Given the description of an element on the screen output the (x, y) to click on. 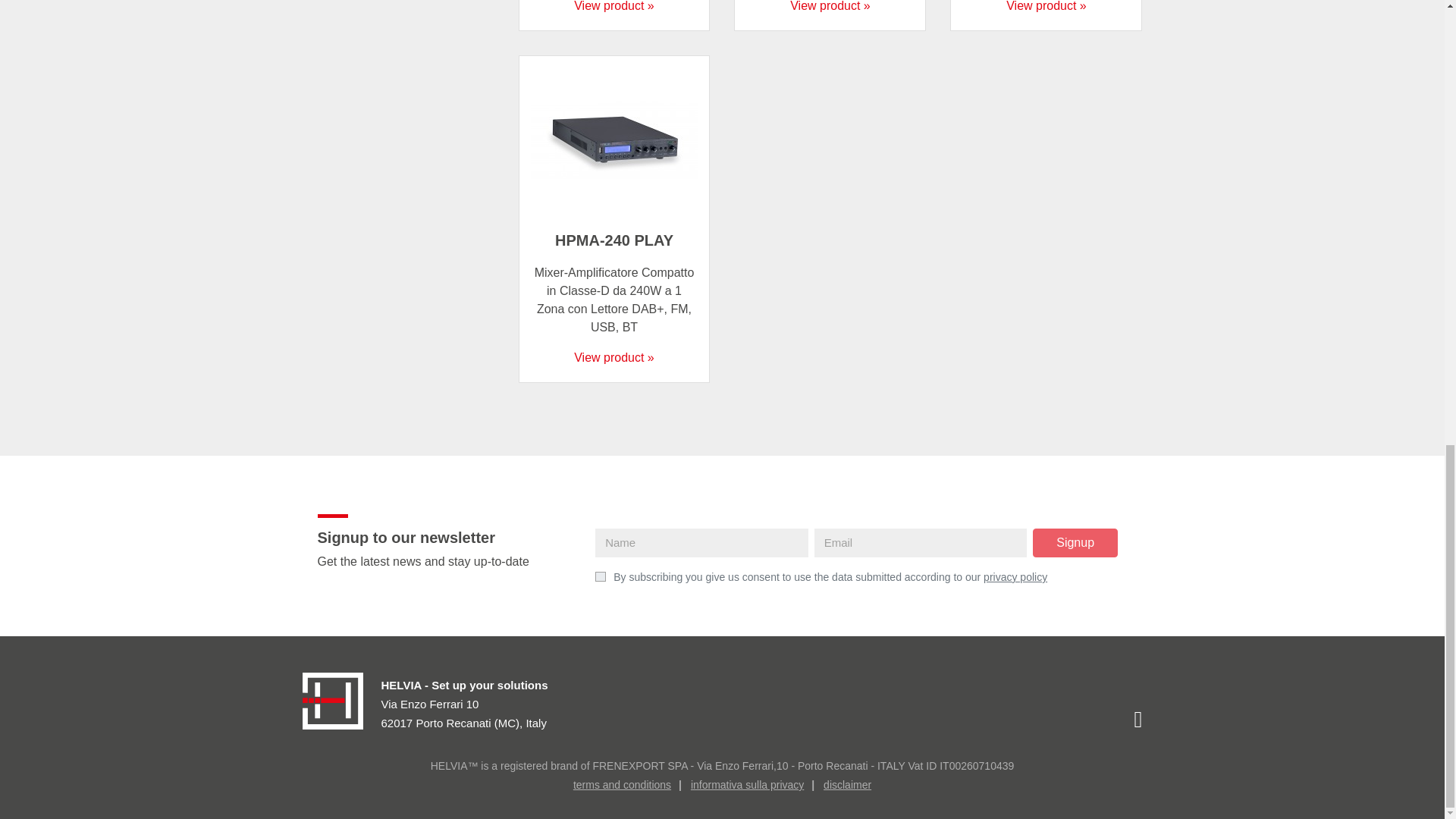
terms and conditions (622, 784)
privacy policy (1015, 576)
Signup (1075, 542)
informativa sulla privacy (746, 784)
disclaimer (847, 784)
